Given the description of an element on the screen output the (x, y) to click on. 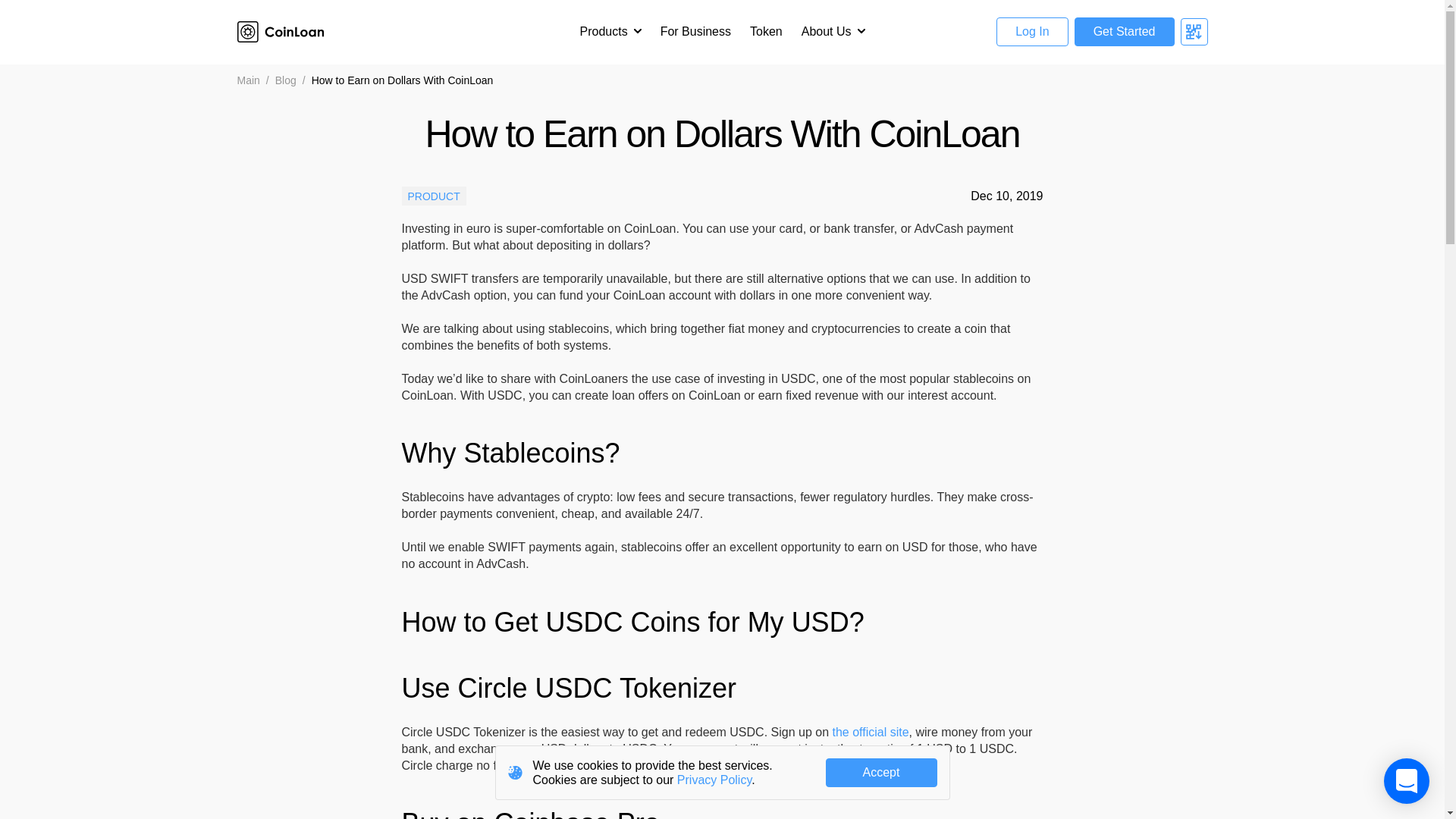
Get Started (1124, 31)
the official site (869, 731)
For Business (695, 31)
Blog (286, 80)
PRODUCT (433, 195)
Token (766, 31)
Log In (1031, 31)
Main (247, 80)
